Given the description of an element on the screen output the (x, y) to click on. 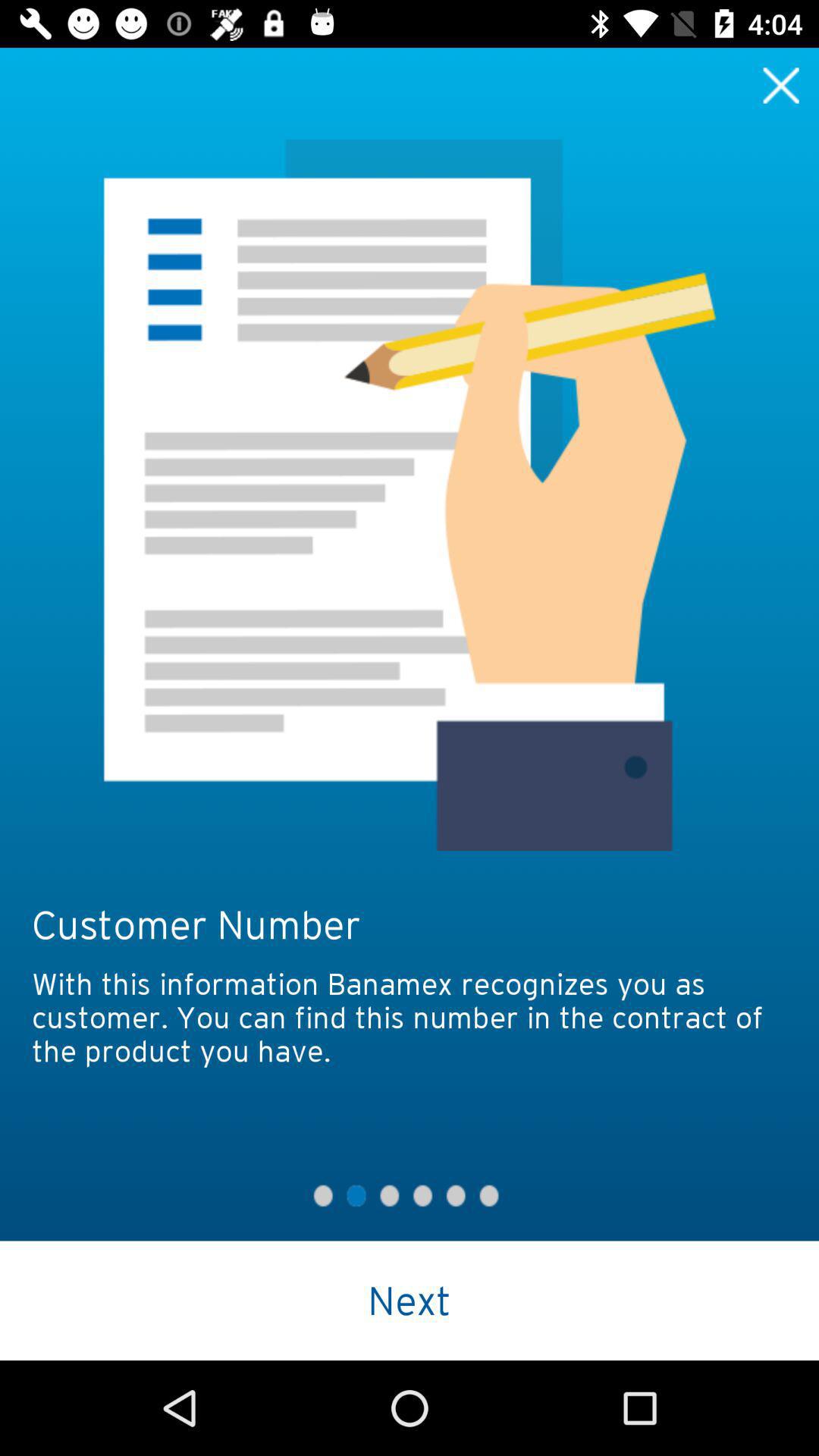
close the app (781, 85)
